Given the description of an element on the screen output the (x, y) to click on. 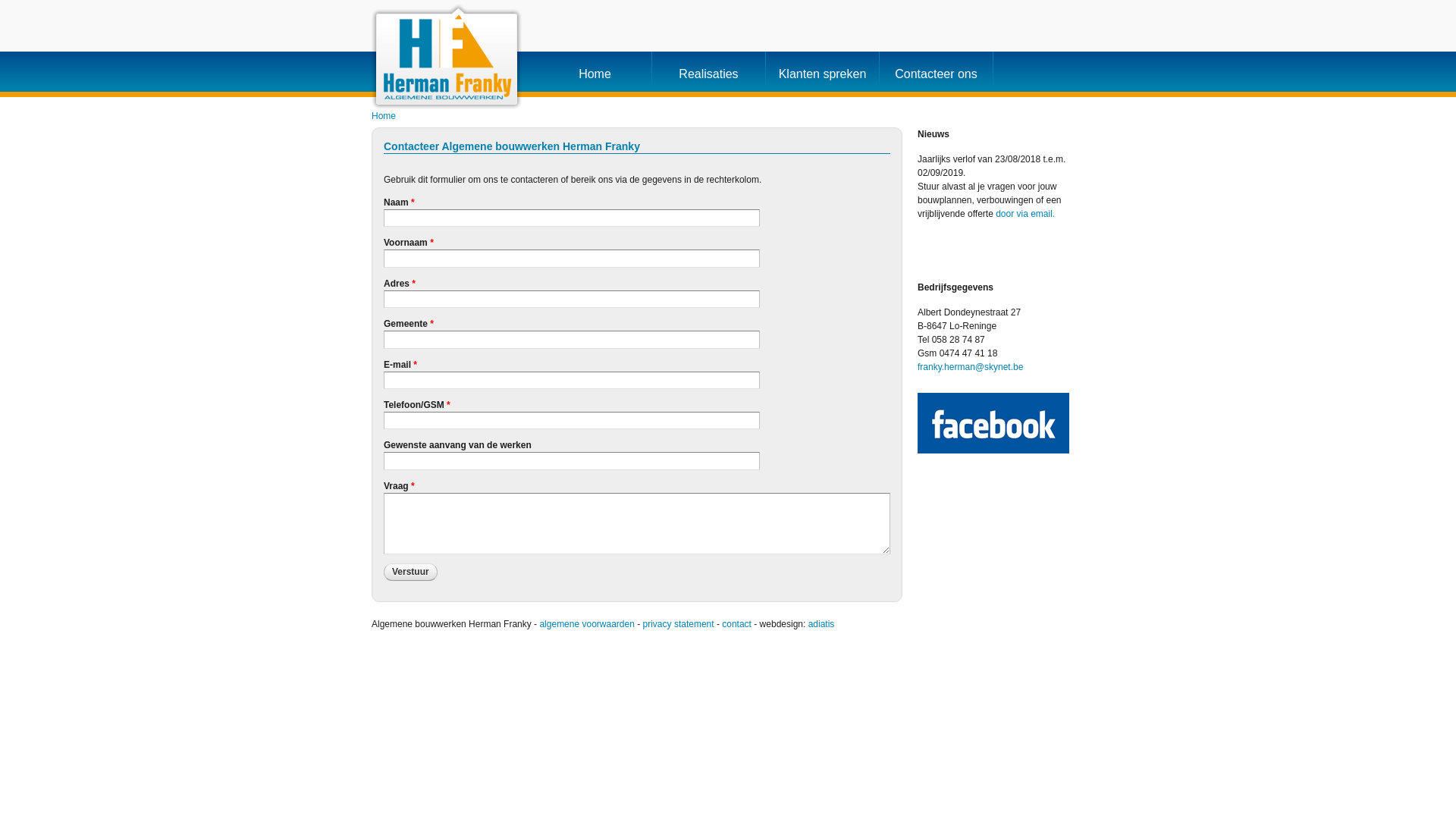
algemene voorwaarden Element type: text (586, 623)
adiatis Element type: text (821, 623)
contact Element type: text (736, 623)
Klanten spreken Element type: text (822, 71)
Home Element type: text (383, 115)
door via email. Element type: text (1024, 213)
privacy statement Element type: text (678, 623)
Home Element type: text (595, 71)
franky.herman@skynet.be Element type: text (969, 366)
Realisaties Element type: text (708, 71)
Volg Frankie Herman via Facebook Element type: hover (993, 422)
Contacteer ons Element type: text (936, 71)
Verstuur Element type: text (410, 571)
Overslaan en naar de inhoud gaan Element type: text (708, 1)
